Given the description of an element on the screen output the (x, y) to click on. 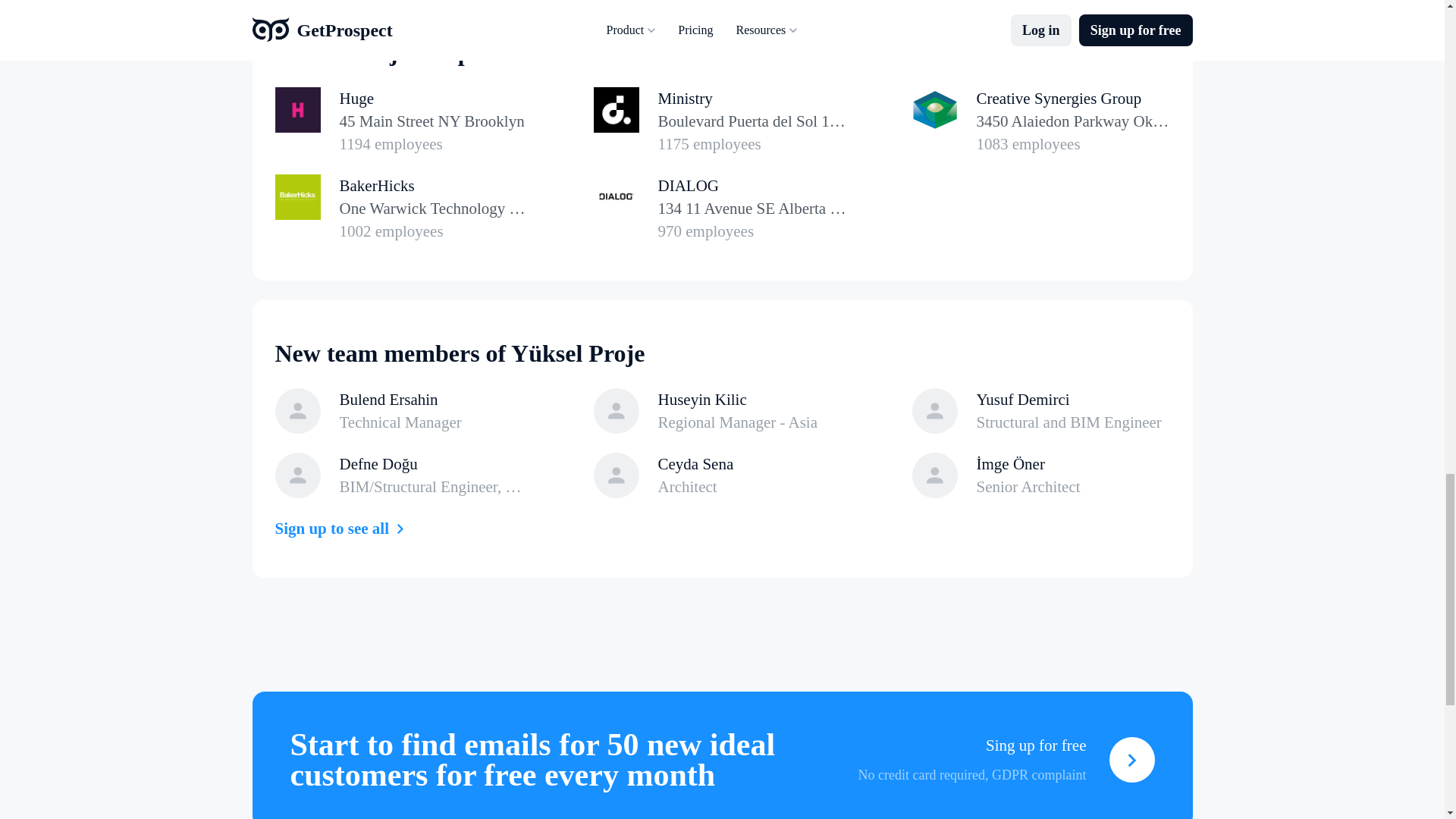
Sign up to see all (721, 208)
